Given the description of an element on the screen output the (x, y) to click on. 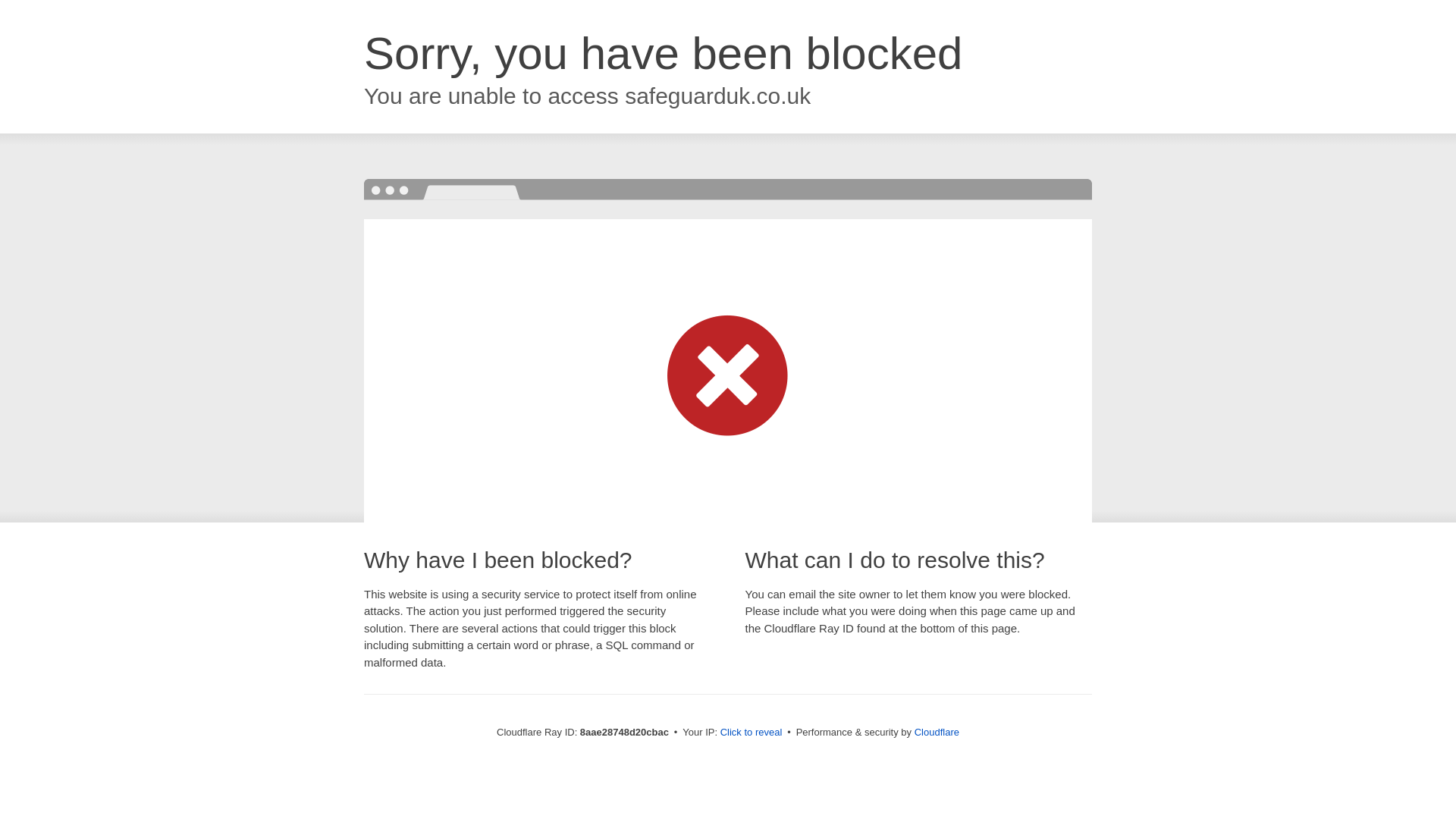
Cloudflare (936, 731)
Click to reveal (751, 732)
